Given the description of an element on the screen output the (x, y) to click on. 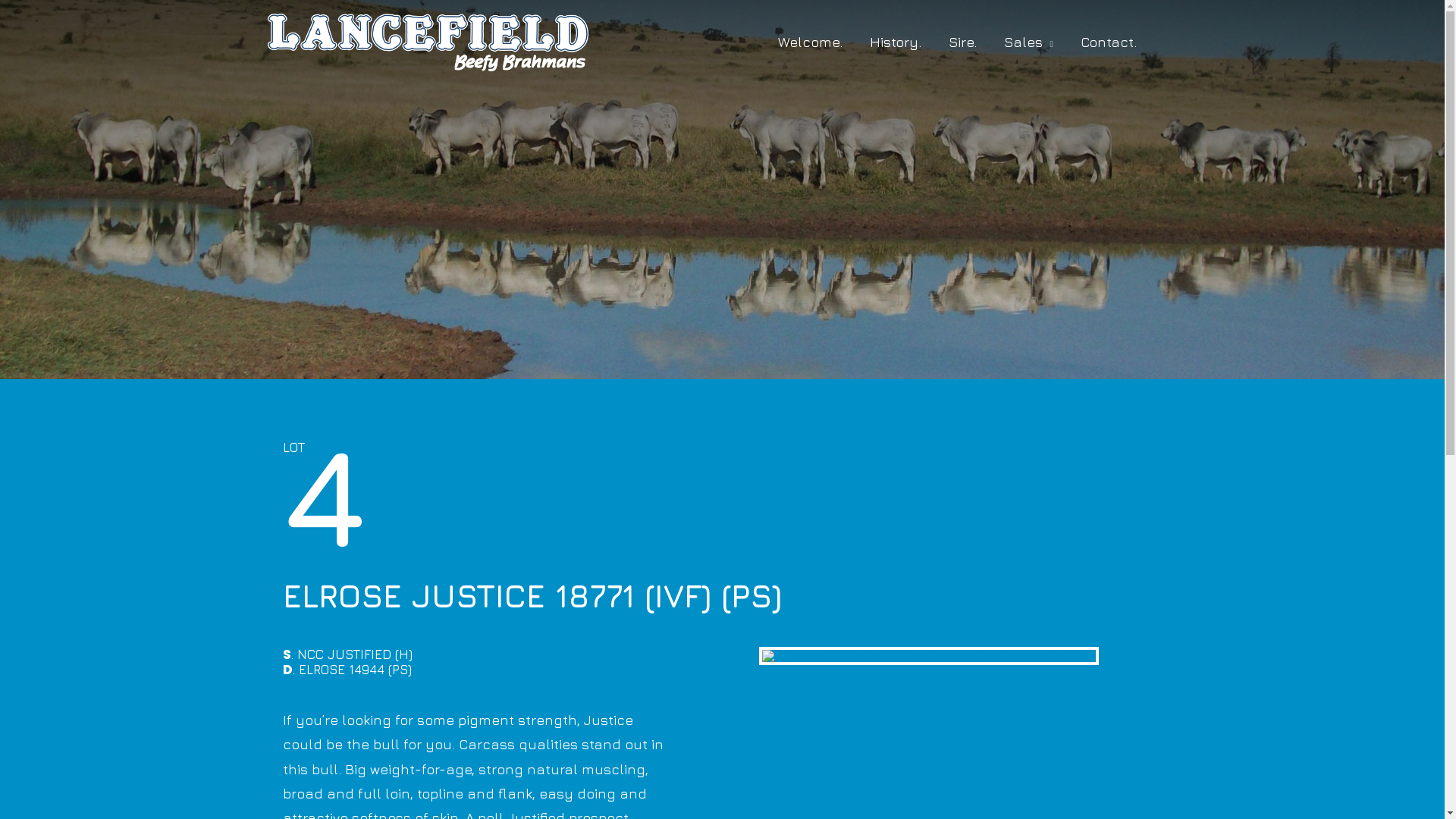
History. Element type: text (895, 42)
Lot-4-Elrose-Justice-18771-(Poll-Scurr)_McCALM Element type: hover (928, 655)
Welcome. Element type: text (810, 42)
Contact. Element type: text (1107, 42)
Sire. Element type: text (962, 42)
Sales Element type: text (1028, 42)
